Given the description of an element on the screen output the (x, y) to click on. 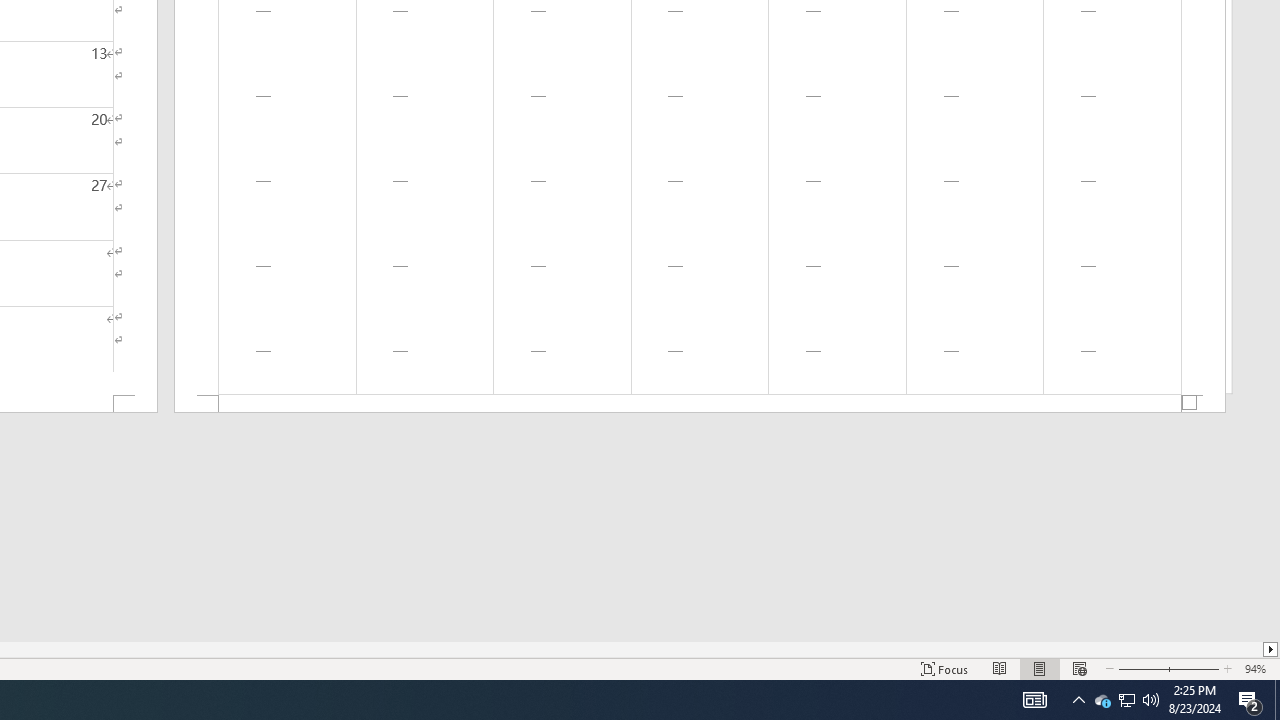
Footer -Section 1- (700, 404)
Column right (1271, 649)
